Given the description of an element on the screen output the (x, y) to click on. 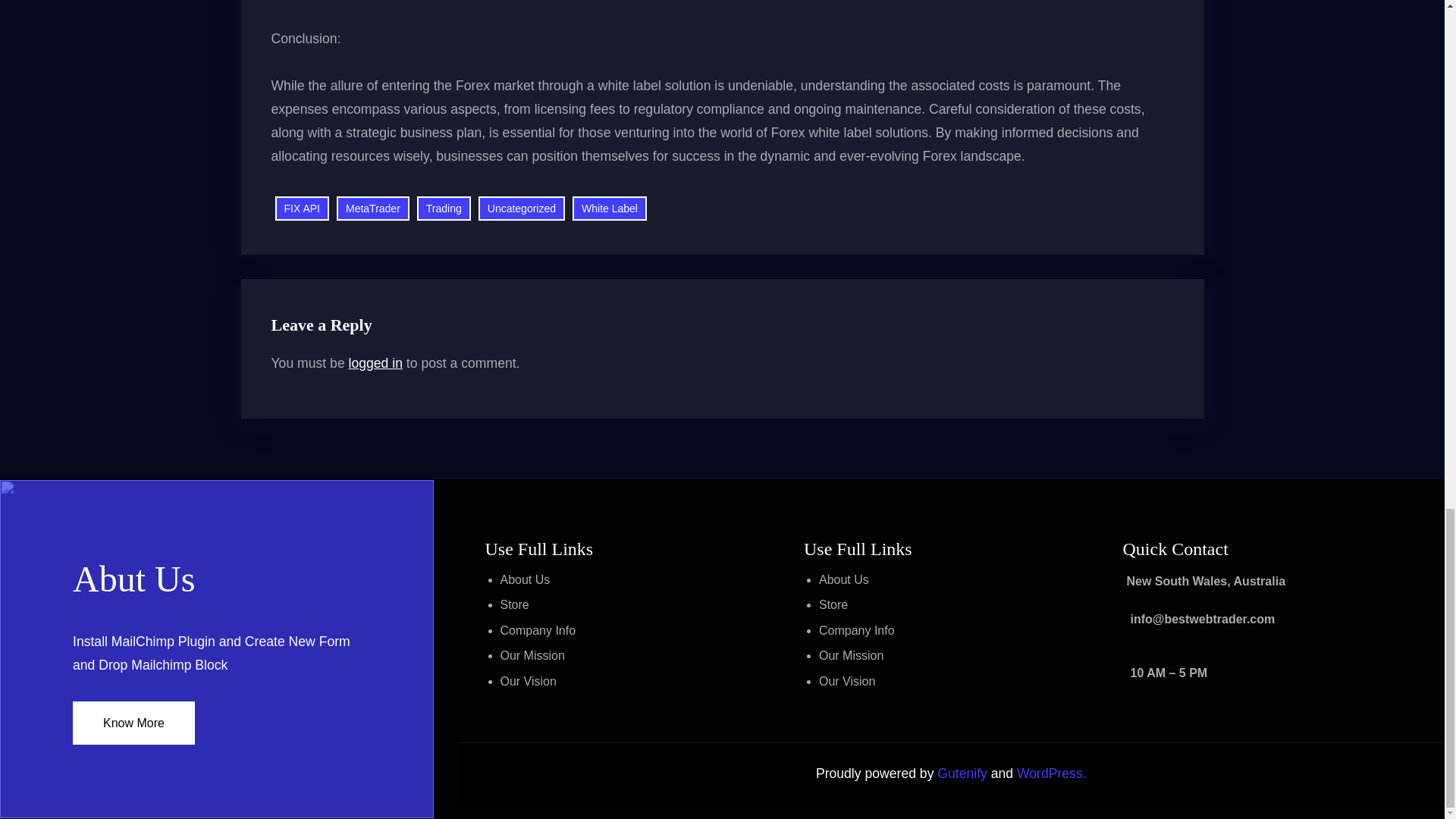
White Label (609, 208)
FIX API (302, 208)
Uncategorized (521, 208)
logged in (376, 363)
WordPress. (1051, 773)
Gutenify (963, 773)
MetaTrader (372, 208)
Know More (133, 722)
Trading (443, 208)
